Given the description of an element on the screen output the (x, y) to click on. 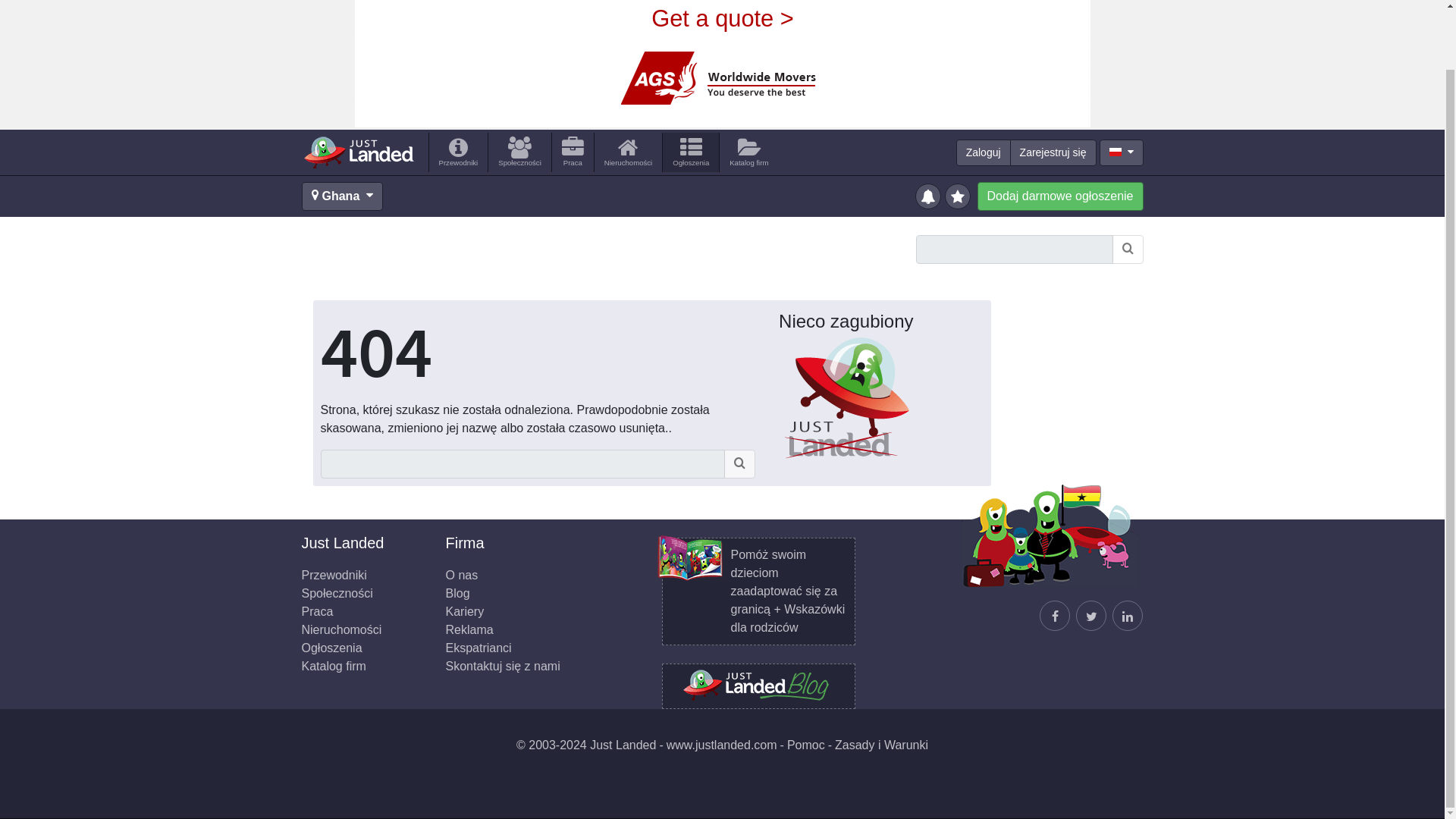
Polish (1114, 152)
3rd party ad content (722, 63)
Ulubione (959, 195)
Zaloguj (983, 152)
Praca (317, 611)
Praca (572, 152)
Przewodniki (333, 574)
Katalog firm (748, 152)
Katalog firm (333, 666)
Ghana (342, 195)
Blog (457, 593)
Kariery (464, 611)
Powiadomienia (928, 195)
Przewodniki (458, 152)
Przewodniki (458, 152)
